Given the description of an element on the screen output the (x, y) to click on. 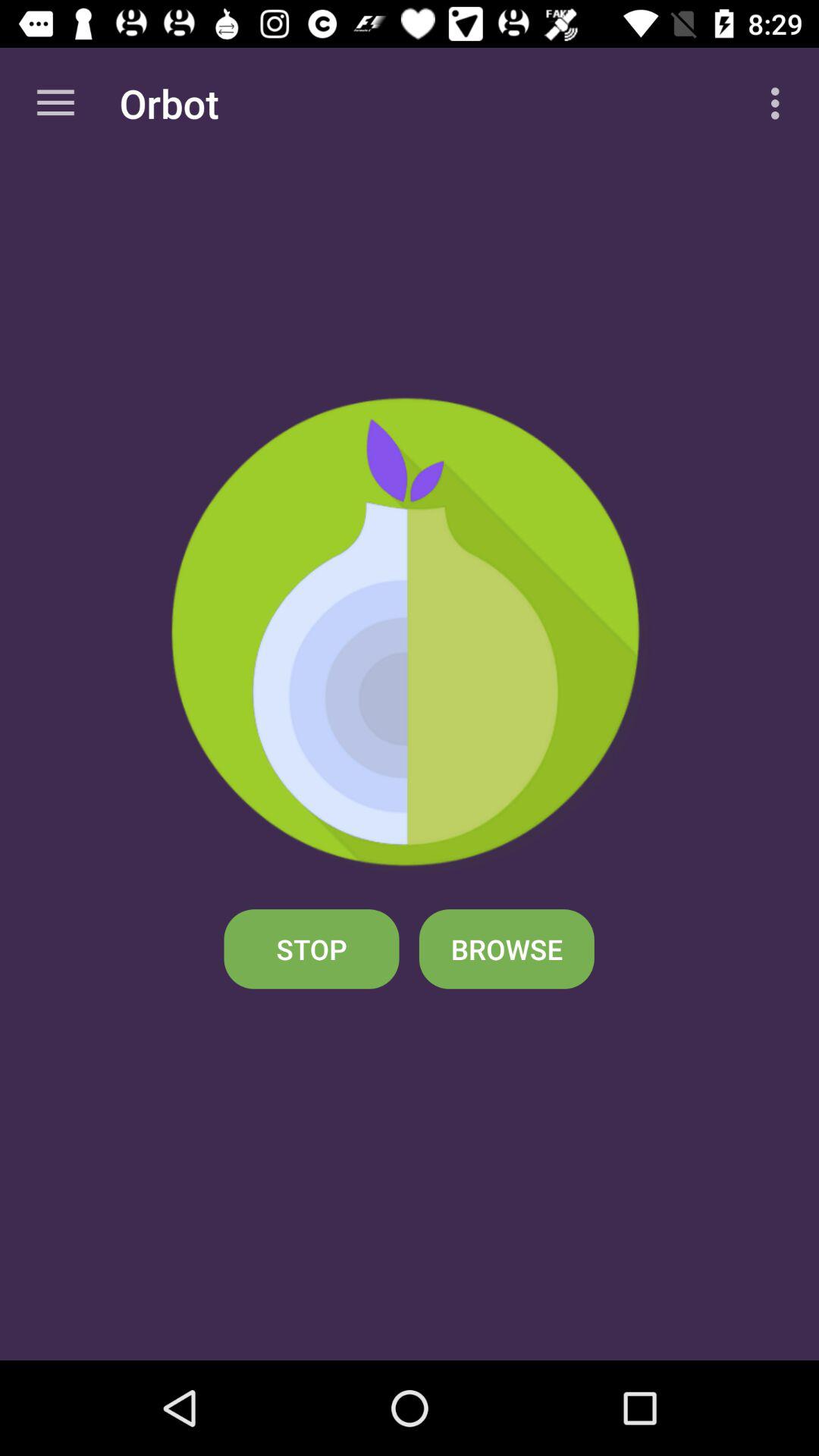
flip to the stop (311, 949)
